Given the description of an element on the screen output the (x, y) to click on. 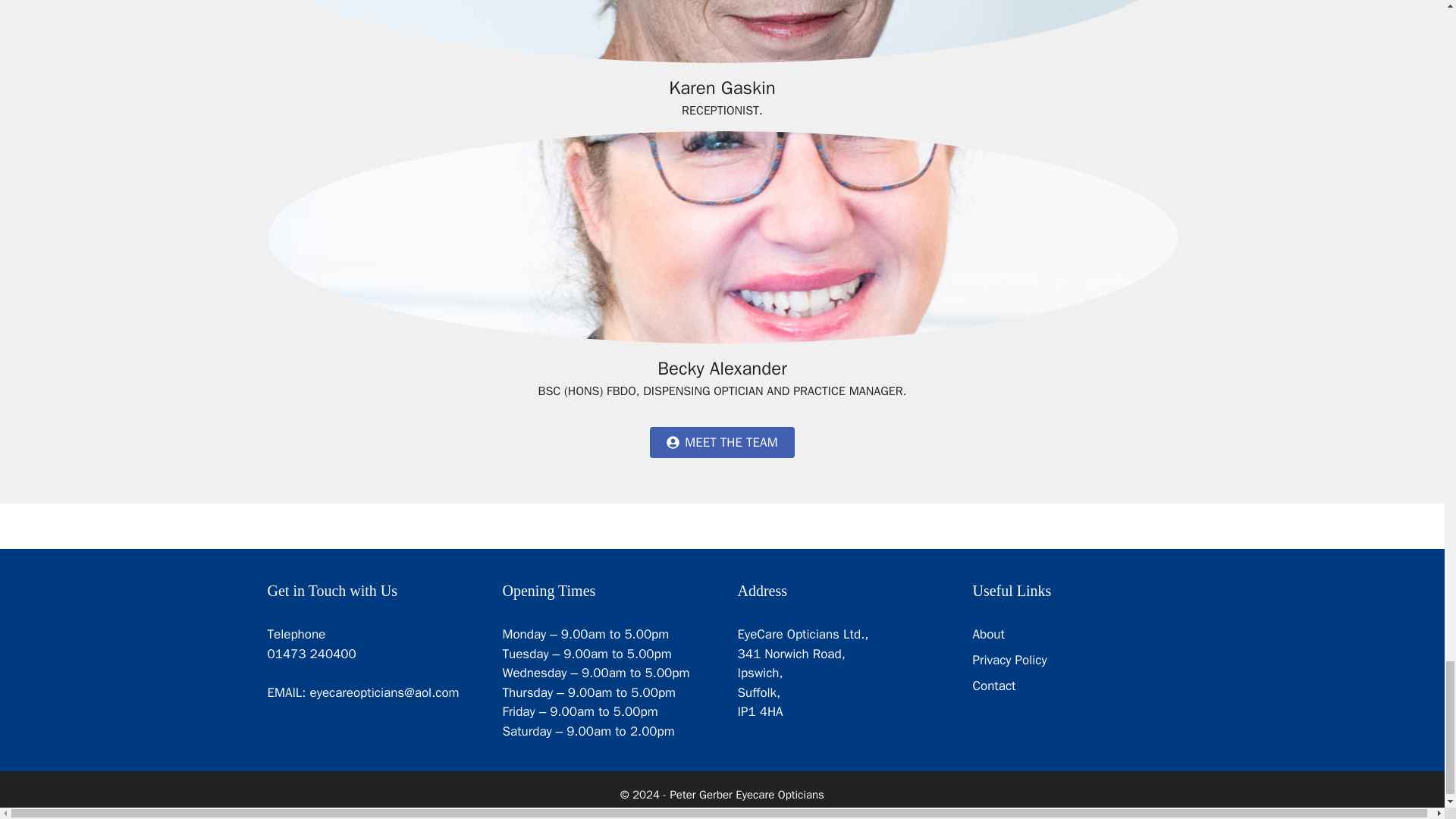
Contact (993, 685)
MEET THE TEAM (721, 442)
Privacy Policy (1009, 659)
About (988, 634)
01473 240400 (310, 653)
